Given the description of an element on the screen output the (x, y) to click on. 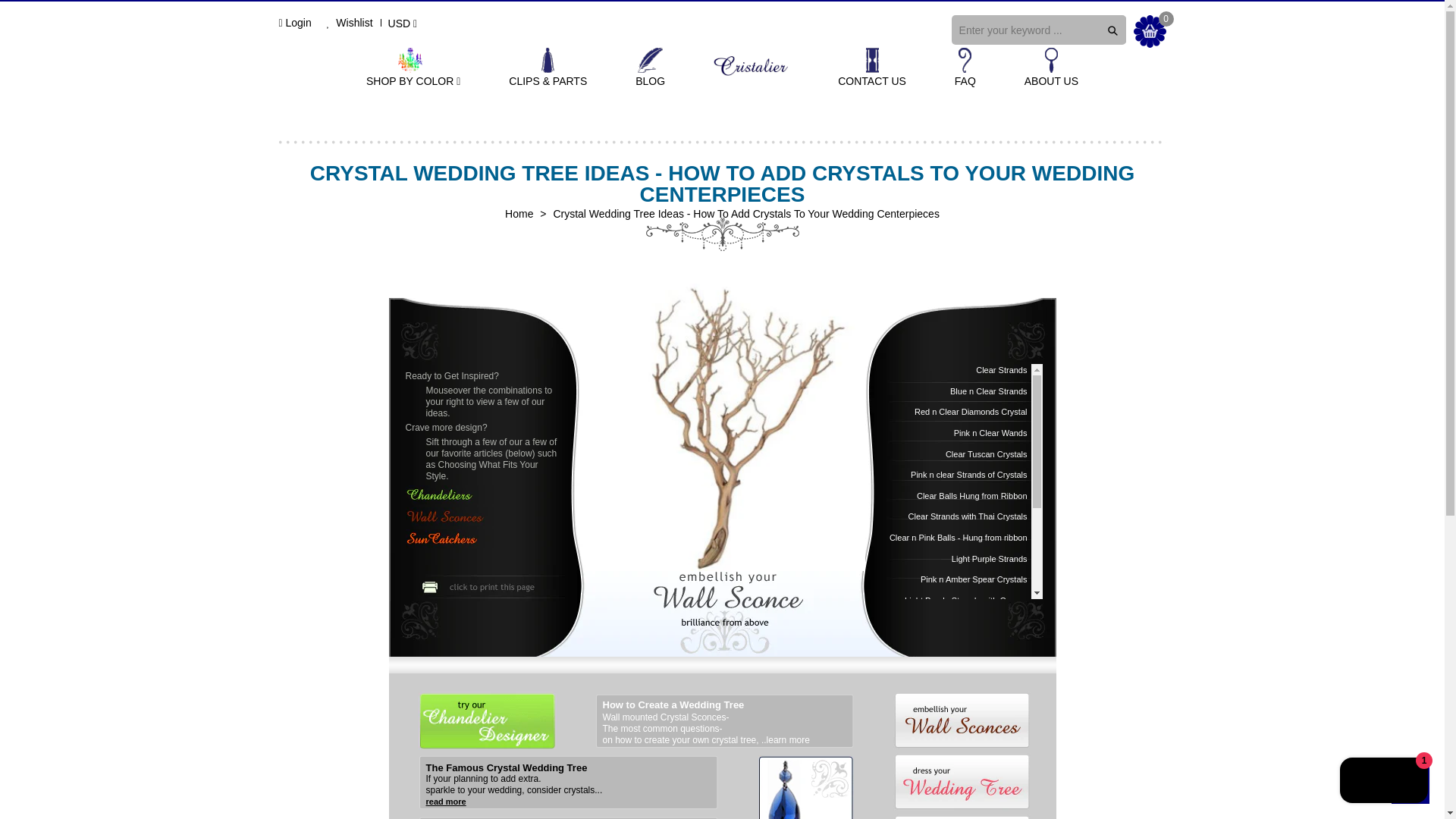
SHOP BY COLOR (413, 68)
Scroll to Top (1410, 784)
Login (298, 22)
Shopify online store chat (1383, 781)
USD (404, 24)
Cristalier Crystals (518, 213)
CONTACT US (871, 68)
Wishlist (349, 22)
ABOUT US (1051, 68)
